Given the description of an element on the screen output the (x, y) to click on. 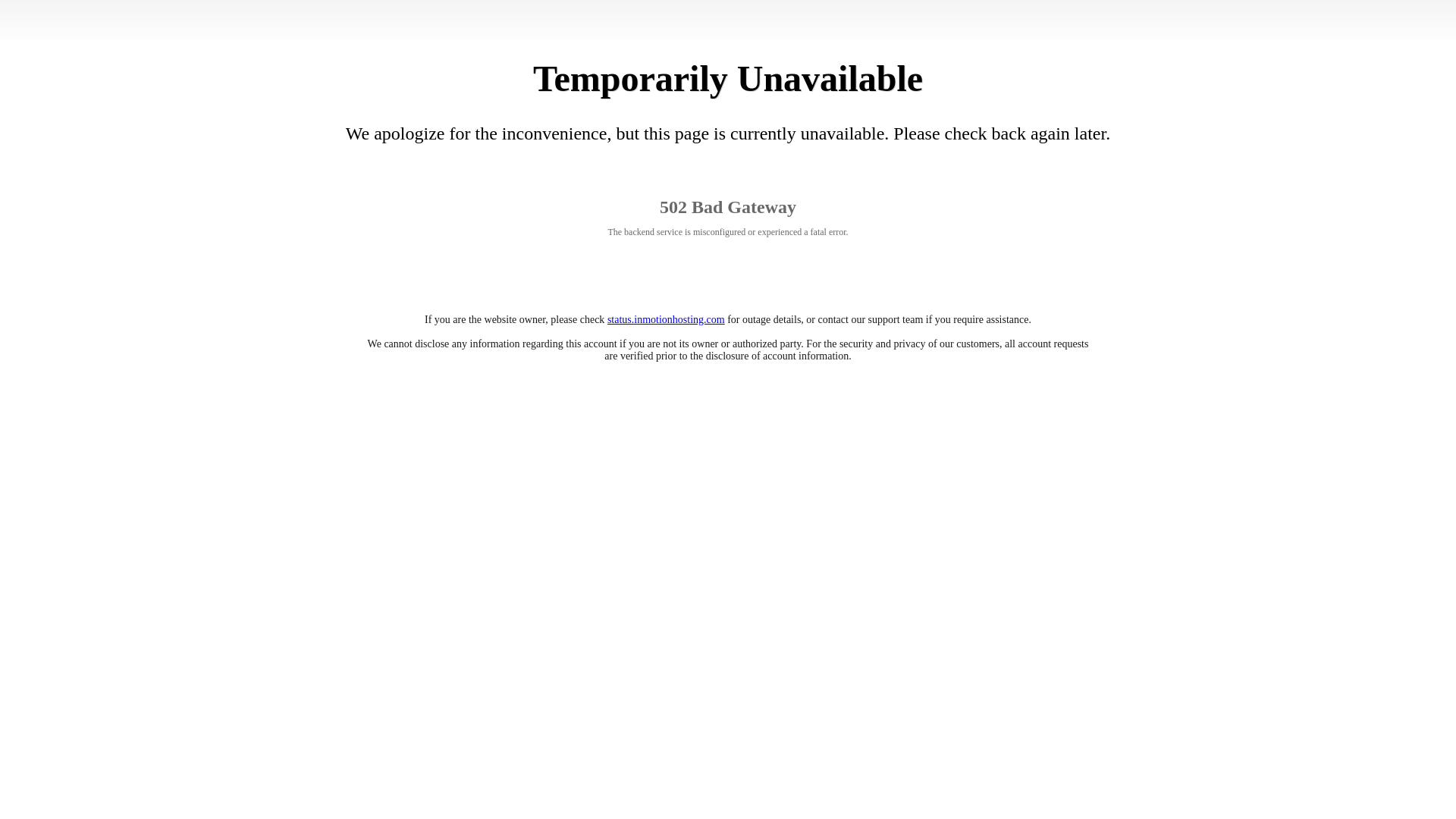
status.inmotionhosting.com (666, 319)
